Given the description of an element on the screen output the (x, y) to click on. 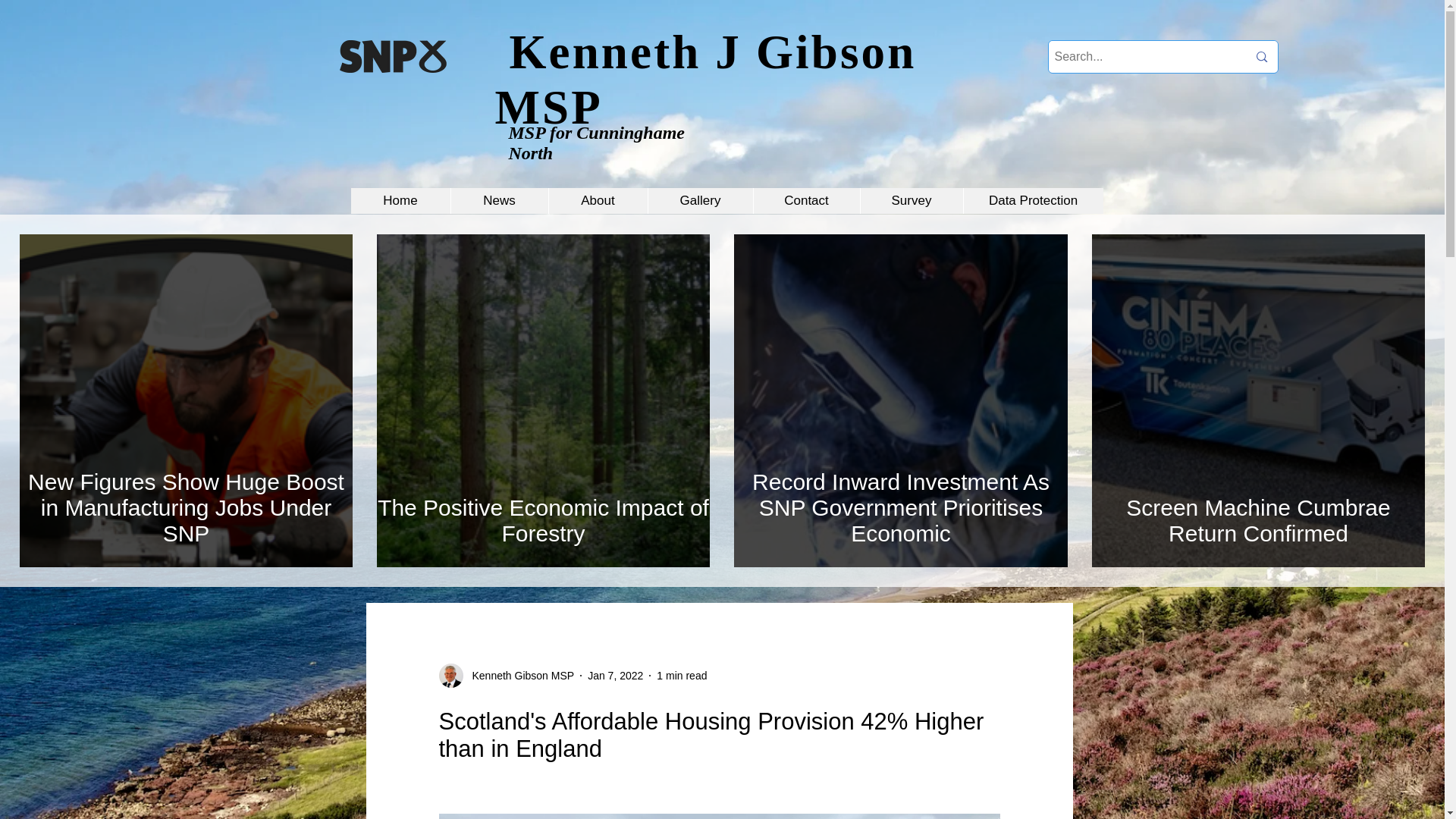
1 min read (681, 674)
The Positive Economic Impact of Forestry (543, 520)
News (498, 200)
About (596, 200)
MSP for Cunninghame North (596, 142)
 Kenneth J Gibson MSP  (705, 79)
Gallery (699, 200)
Jan 7, 2022 (615, 674)
Screen Machine Cumbrae Return Confirmed (1258, 520)
